Given the description of an element on the screen output the (x, y) to click on. 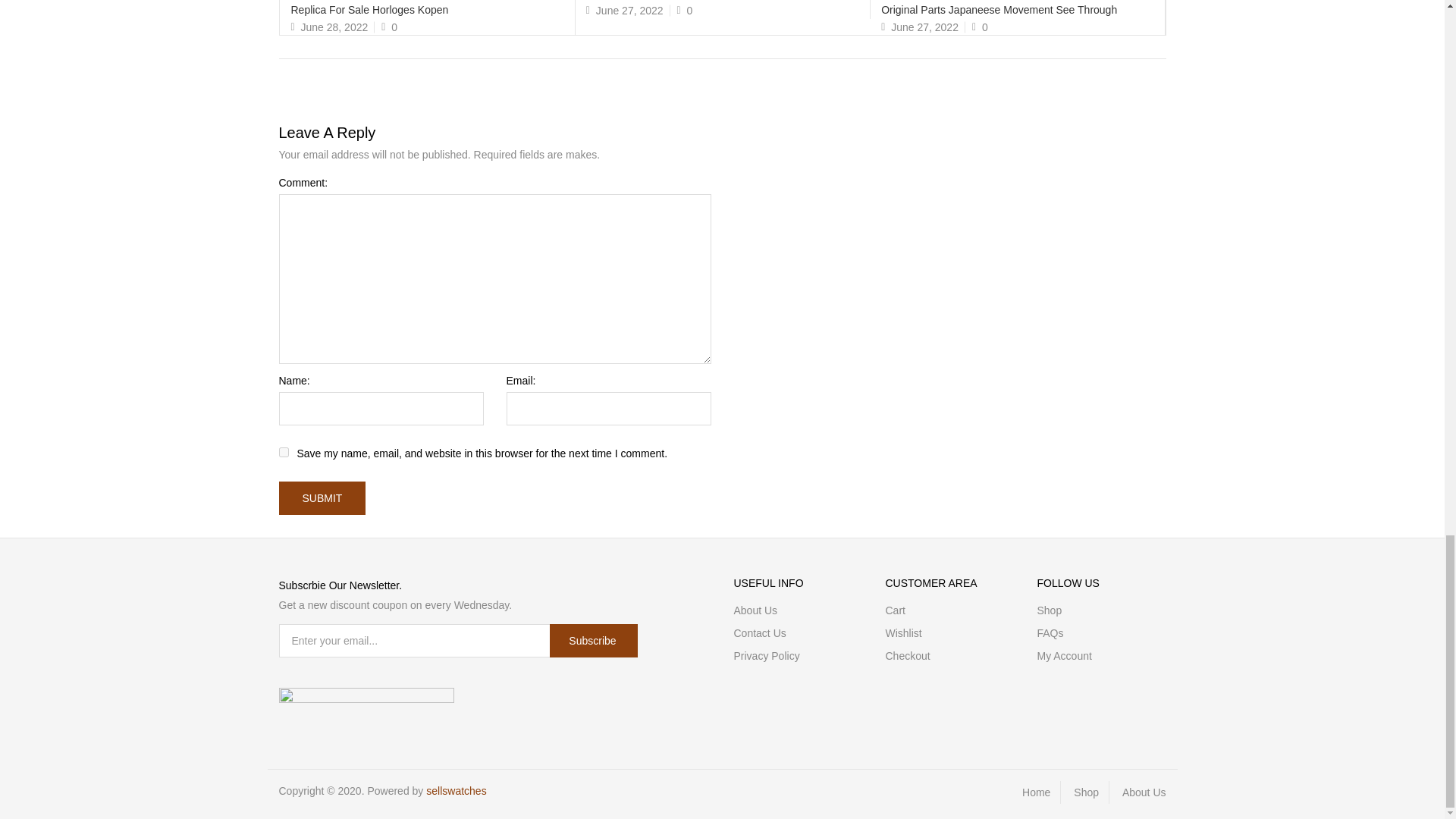
yes (283, 452)
submit (322, 498)
subscribe (593, 640)
payments (366, 696)
